Given the description of an element on the screen output the (x, y) to click on. 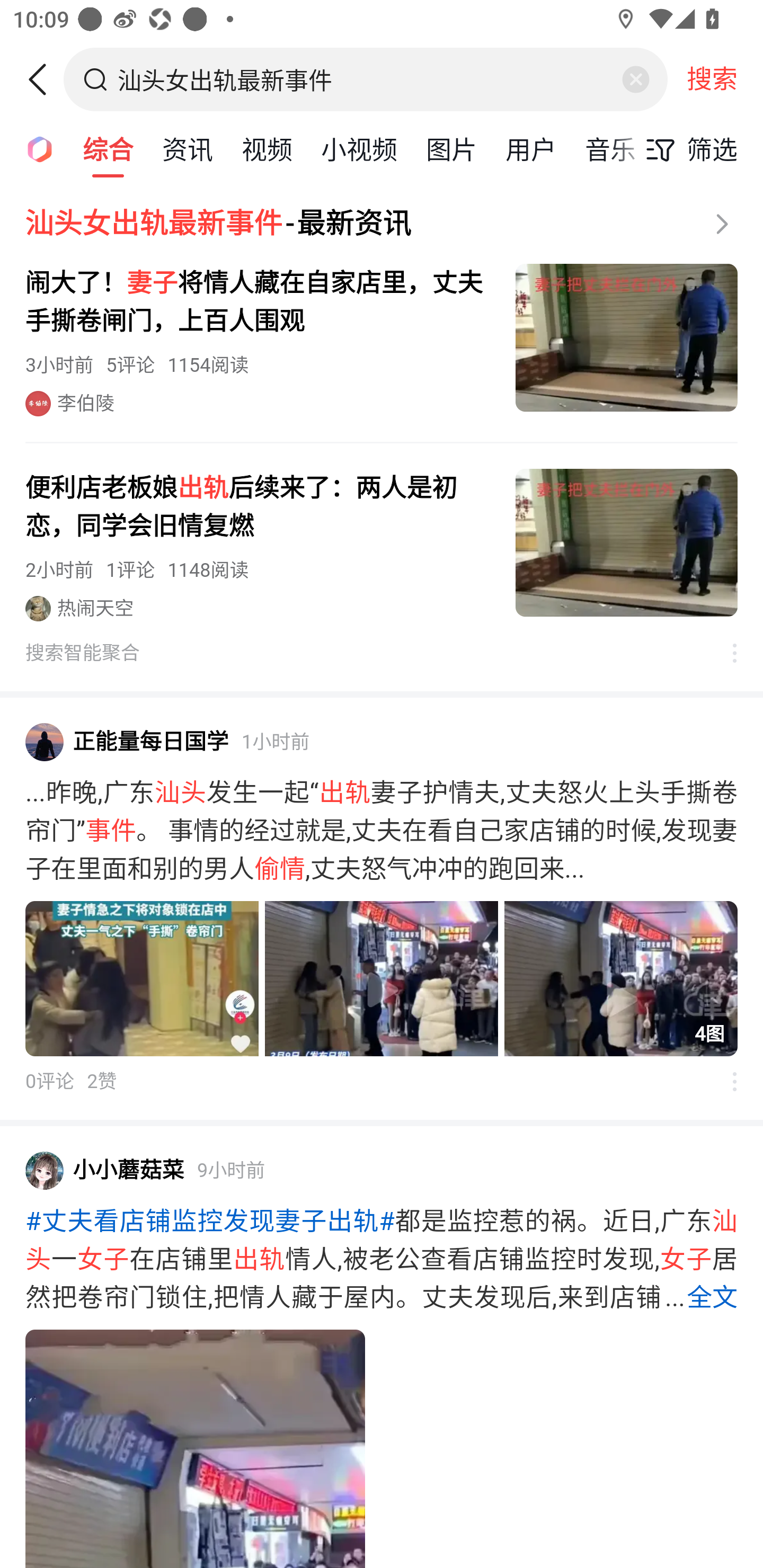
搜索框，汕头女出轨最新事件 (366, 79)
搜索 (711, 79)
返回 (44, 79)
清除 (635, 79)
资讯 (187, 148)
视频 (266, 148)
小视频 (359, 148)
图片 (451, 148)
用户 (530, 148)
音乐 (610, 148)
筛选 (686, 149)
AI问答 (34, 148)
汕头女出轨最新事件 -最新资讯 (381, 223)
闹大了！妻子将情人藏在自家店里，丈夫手撕卷闸门，上百人围观 3小时前5评论1154阅读 李伯陵 (381, 340)
便利店老板娘出轨后续来了：两人是初恋，同学会旧情复燃 2小时前1评论1148阅读 热闹天空 (381, 544)
举报反馈 (724, 652)
正能量每日国学 1小时前 (381, 741)
4图 (381, 978)
举报反馈 (724, 1080)
小小蘑菇菜 9小时前 (381, 1170)
